Given the description of an element on the screen output the (x, y) to click on. 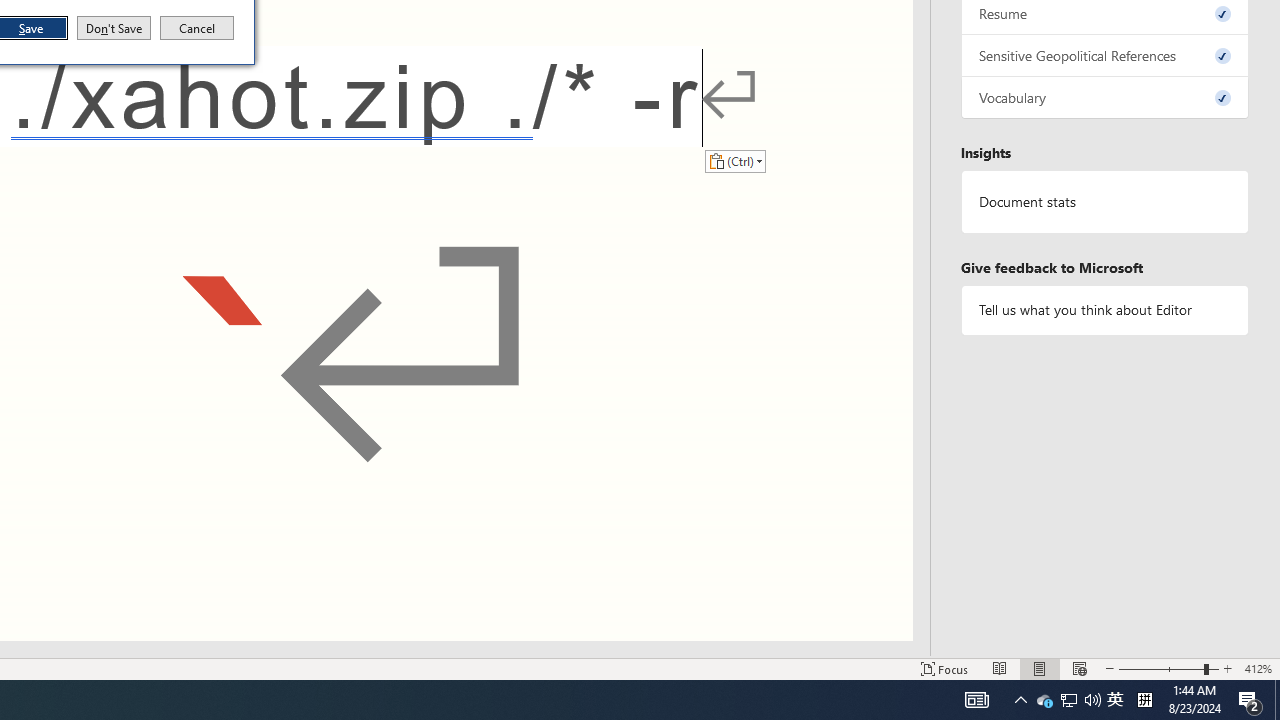
Tray Input Indicator - Chinese (Simplified, China) (1144, 699)
Vocabulary, 0 issues. Press space or enter to review items. (1105, 97)
Don't Save (113, 27)
Zoom 412% (1258, 668)
Tell us what you think about Editor (1105, 309)
Action: Paste alternatives (735, 160)
